Given the description of an element on the screen output the (x, y) to click on. 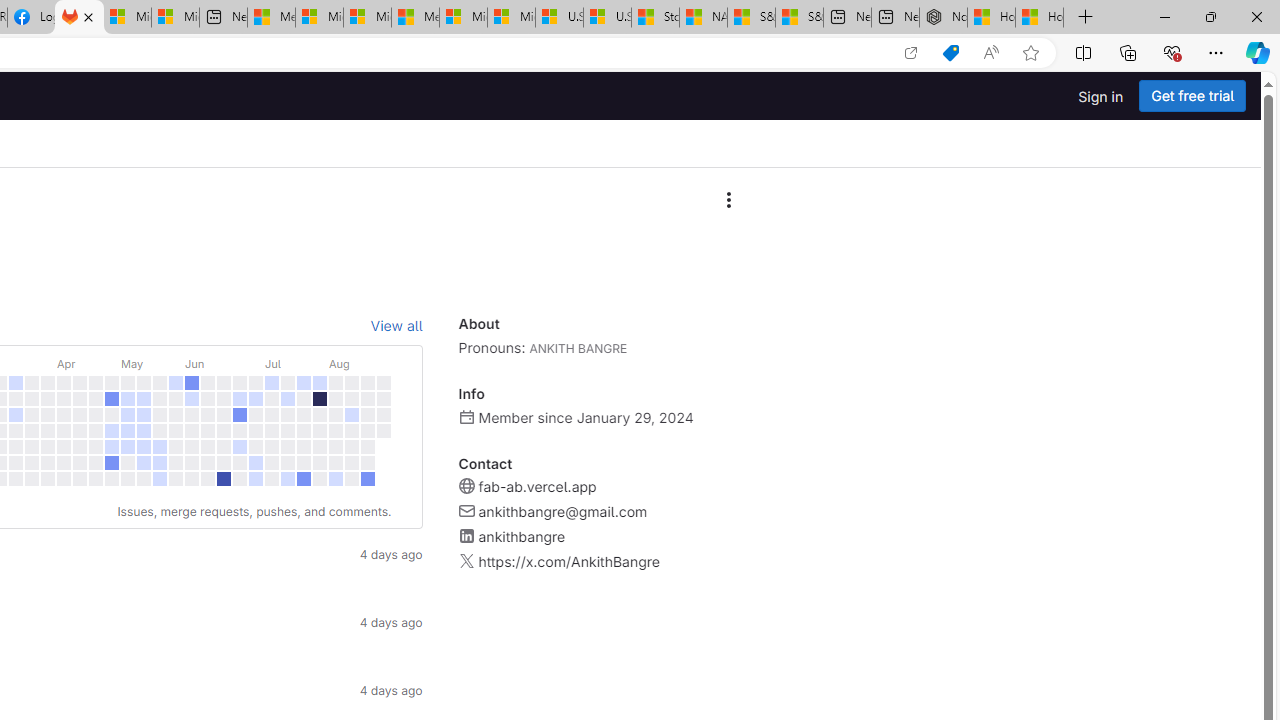
Settings and more (Alt+F) (1215, 52)
Minimize (1164, 16)
fab-ab.vercel.app (536, 486)
